Given the description of an element on the screen output the (x, y) to click on. 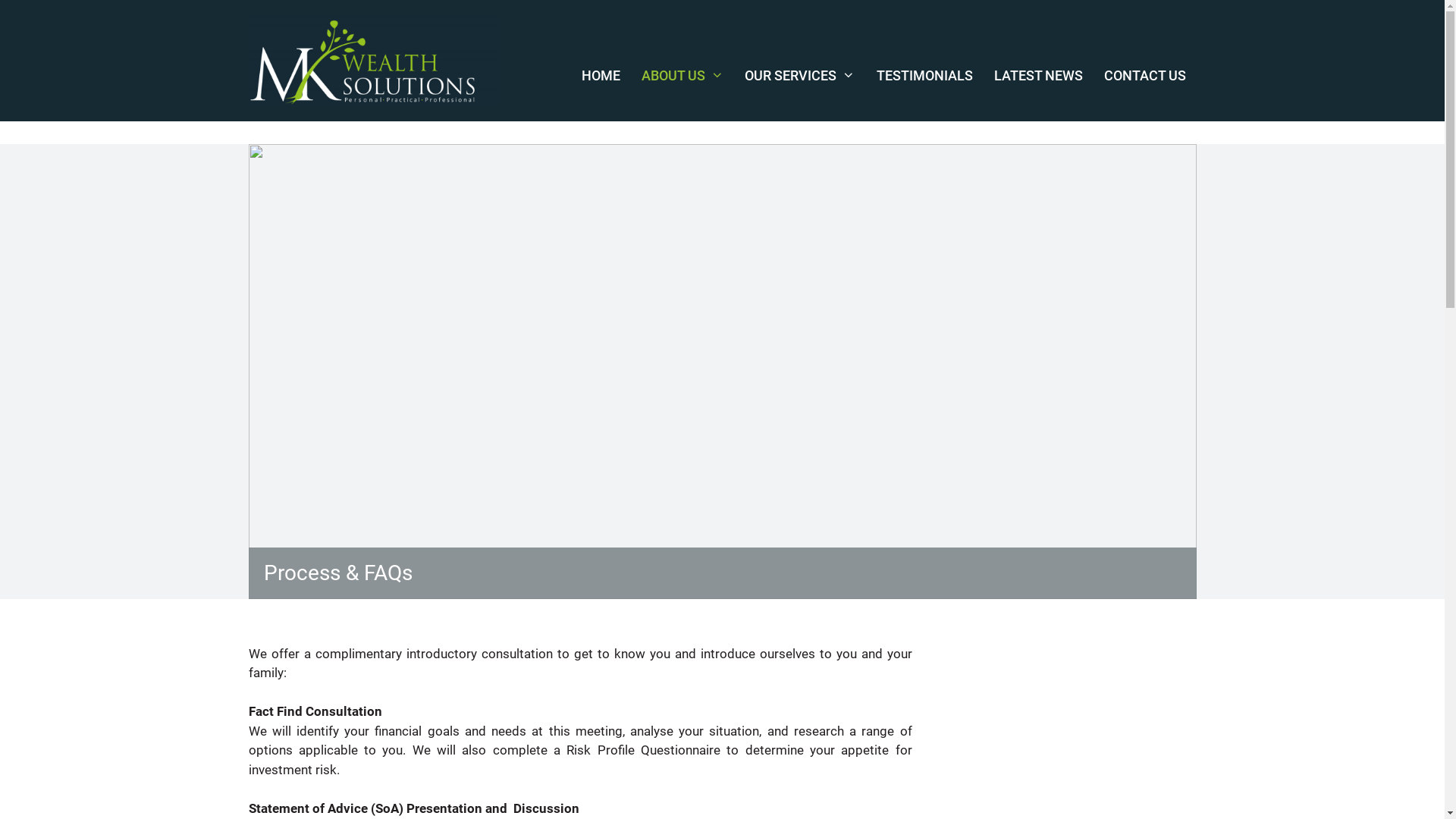
CONTACT US Element type: text (1144, 75)
OUR SERVICES Element type: text (799, 75)
ABOUT US Element type: text (682, 75)
TESTIMONIALS Element type: text (924, 75)
HOME Element type: text (600, 75)
LATEST NEWS Element type: text (1037, 75)
